Given the description of an element on the screen output the (x, y) to click on. 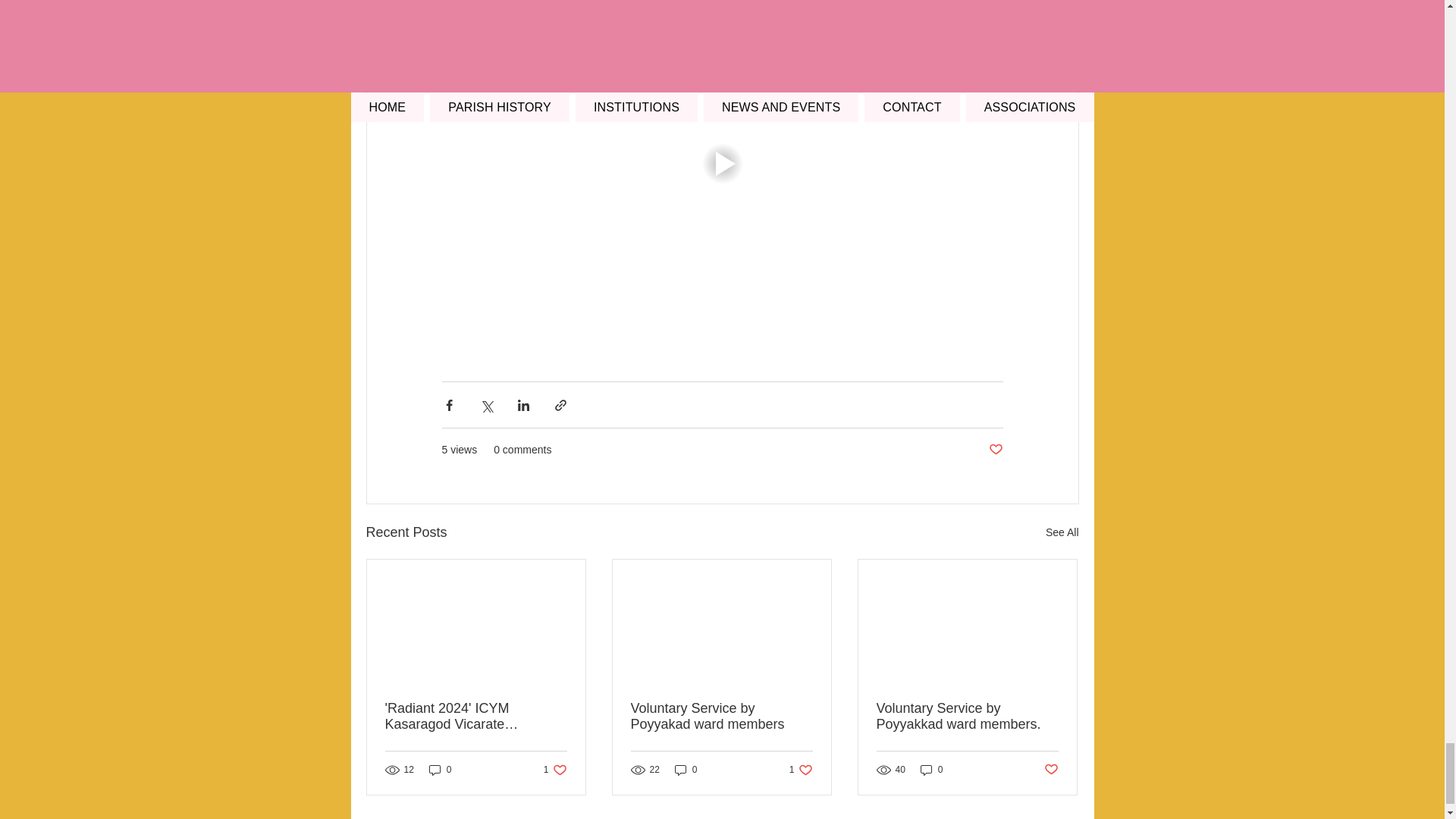
Post not marked as liked (1050, 770)
Voluntary Service by Poyyakad ward members (721, 716)
0 (440, 769)
Post not marked as liked (995, 449)
See All (555, 769)
Voluntary Service by Poyyakkad ward members. (1061, 532)
0 (967, 716)
